Given the description of an element on the screen output the (x, y) to click on. 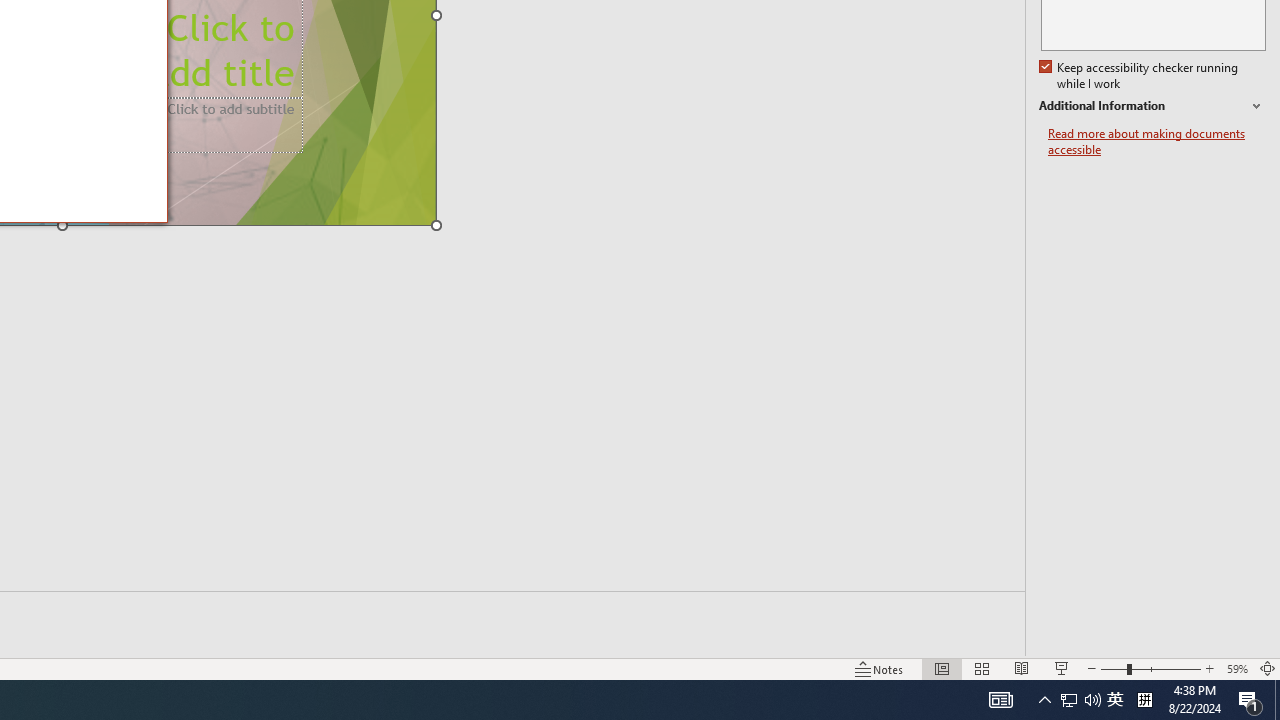
Read more about making documents accessible (1156, 142)
Zoom 59% (1236, 668)
Action Center, 1 new notification (1250, 699)
Additional Information (1152, 106)
